Given the description of an element on the screen output the (x, y) to click on. 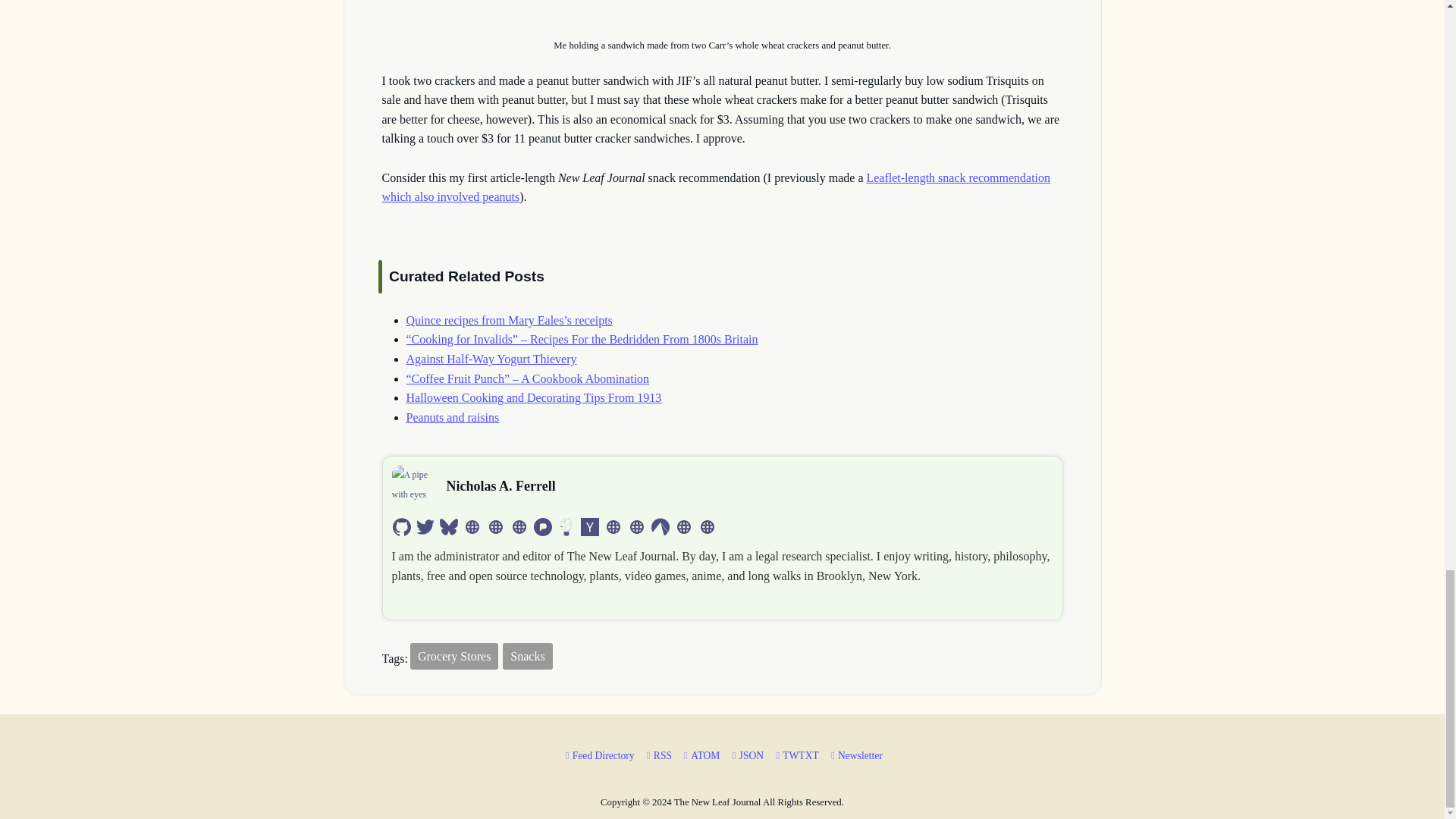
Bluesky (448, 525)
Peanuts and raisins (452, 417)
Minds (565, 525)
Codeberg (659, 525)
Twitter (423, 526)
Codeberg (659, 526)
GitHub (401, 526)
Against Half-Way Yogurt Thievery (491, 358)
Y Combinator (589, 525)
